Given the description of an element on the screen output the (x, y) to click on. 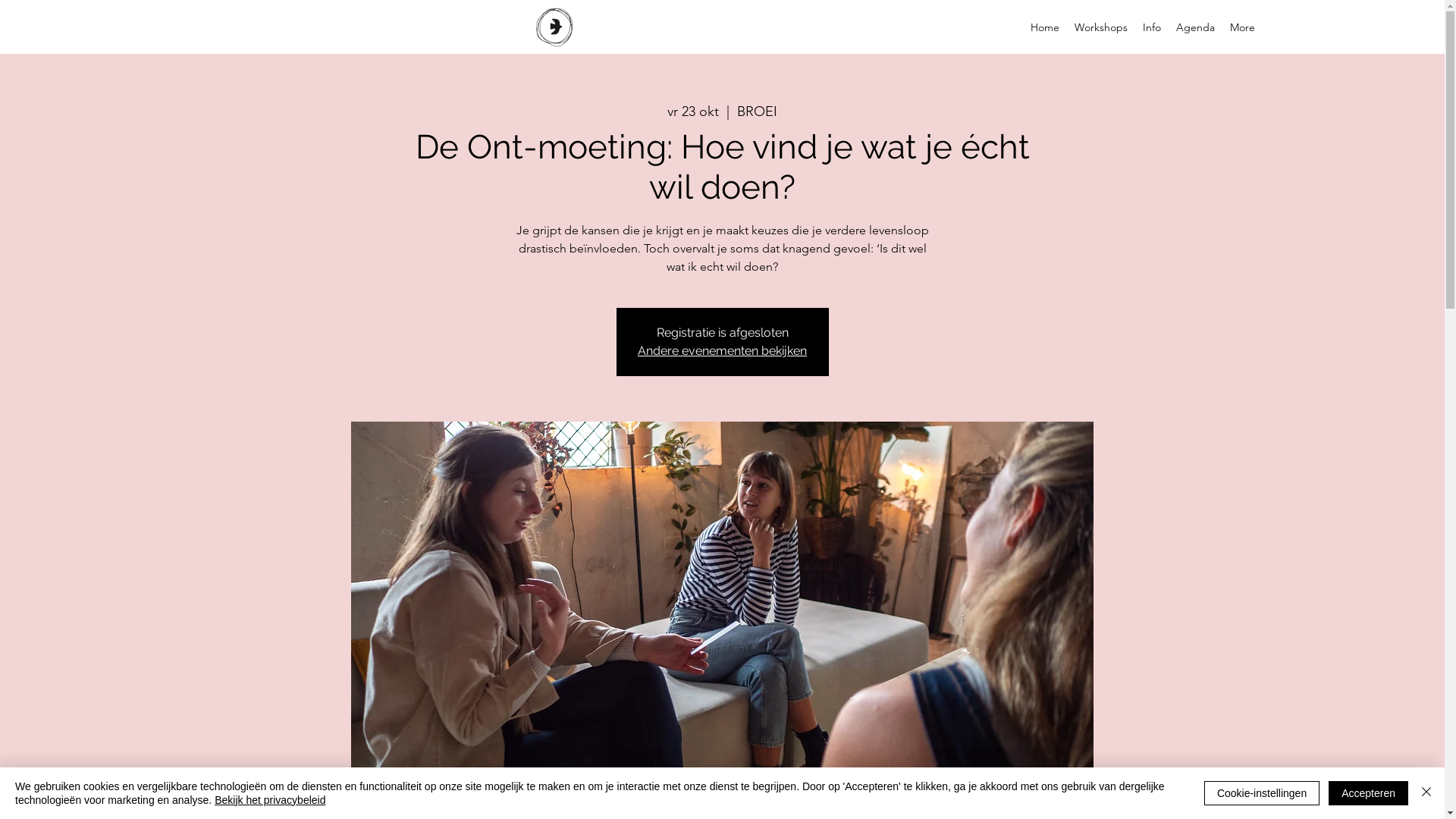
Workshops Element type: text (1100, 26)
Info Element type: text (1150, 26)
Bekijk het privacybeleid Element type: text (269, 799)
Agenda Element type: text (1194, 26)
Cookie-instellingen Element type: text (1261, 793)
Accepteren Element type: text (1368, 793)
Andere evenementen bekijken Element type: text (721, 350)
Home Element type: text (1044, 26)
